Given the description of an element on the screen output the (x, y) to click on. 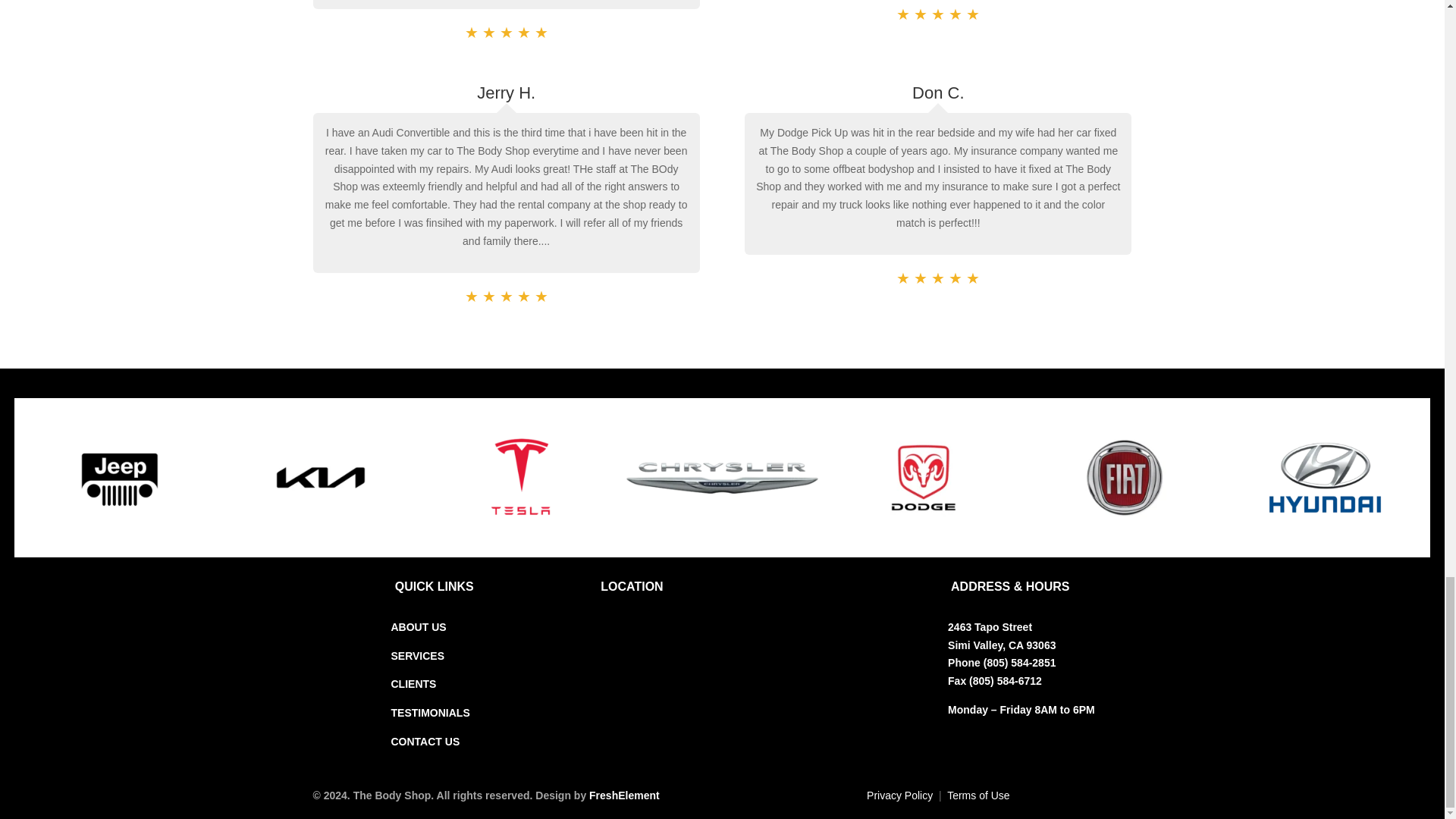
CLIENTS (413, 684)
FreshElement (624, 795)
Privacy Policy (899, 795)
Terms of Use (978, 795)
CONTACT US (425, 741)
TESTIMONIALS (430, 712)
ABOUT US (418, 626)
SERVICES (418, 655)
